Given the description of an element on the screen output the (x, y) to click on. 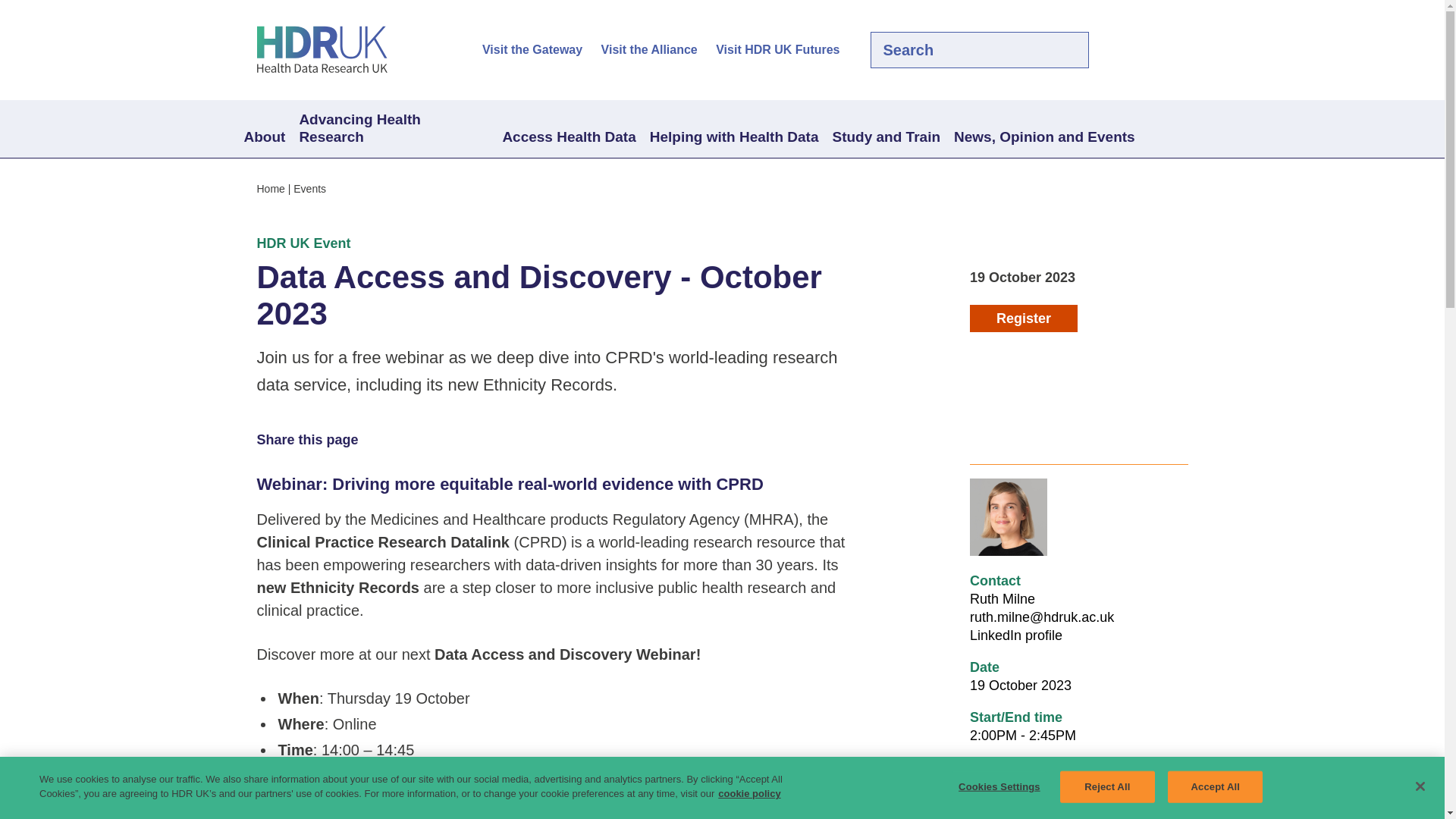
Twitter (1126, 50)
Advancing Health Research (393, 128)
YouTube (1179, 50)
Visit HDR UK Futures (778, 49)
Access Health Data (568, 137)
Visit the Gateway (531, 49)
LinkedIn (1152, 50)
About (263, 137)
Image of ruth-milne (1007, 517)
Visit the Alliance (649, 49)
Helping with Health Data (734, 137)
